Given the description of an element on the screen output the (x, y) to click on. 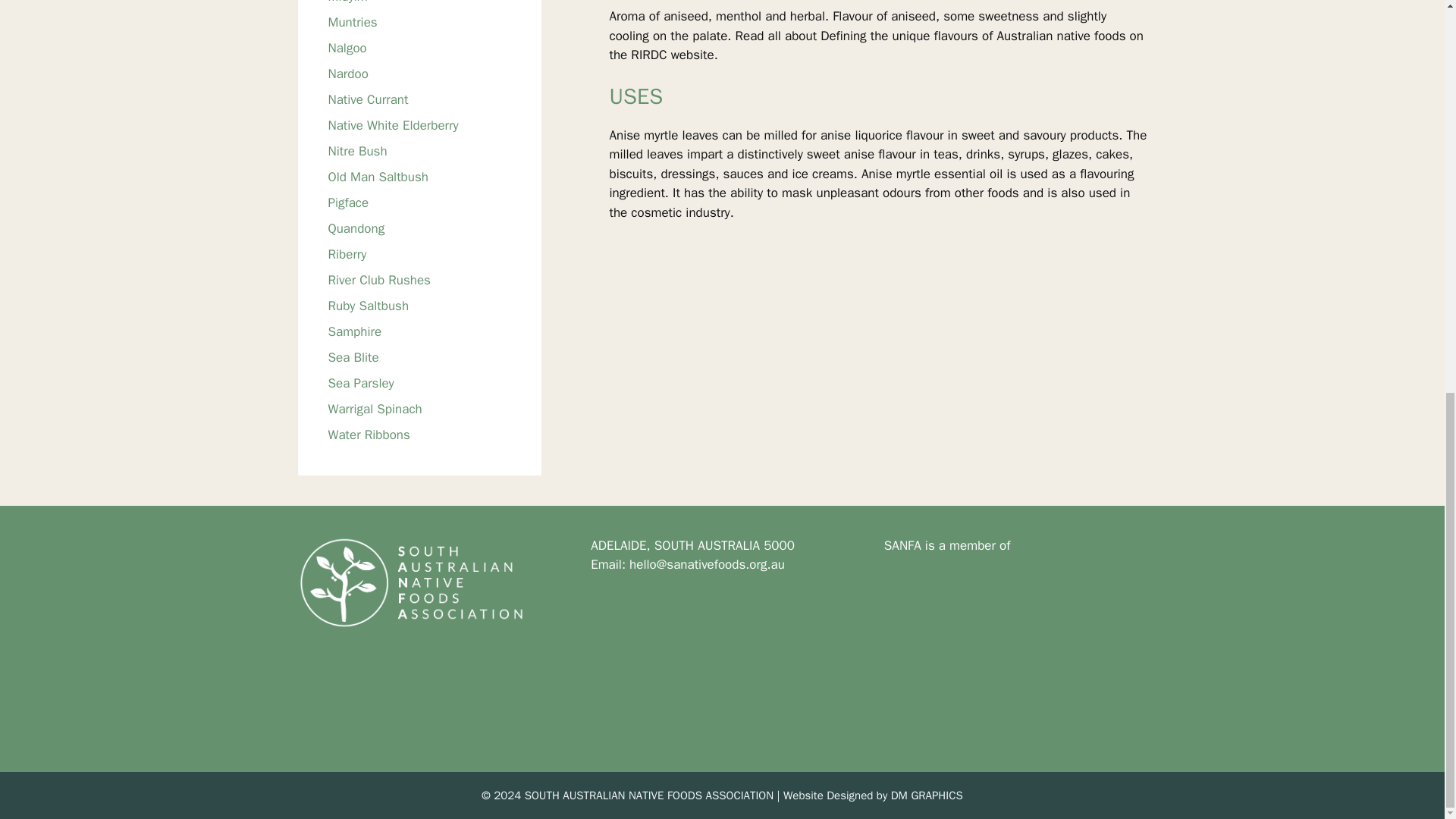
like us on facebook (666, 657)
Anfab Logo (959, 630)
Scroll back to top (1406, 785)
